Given the description of an element on the screen output the (x, y) to click on. 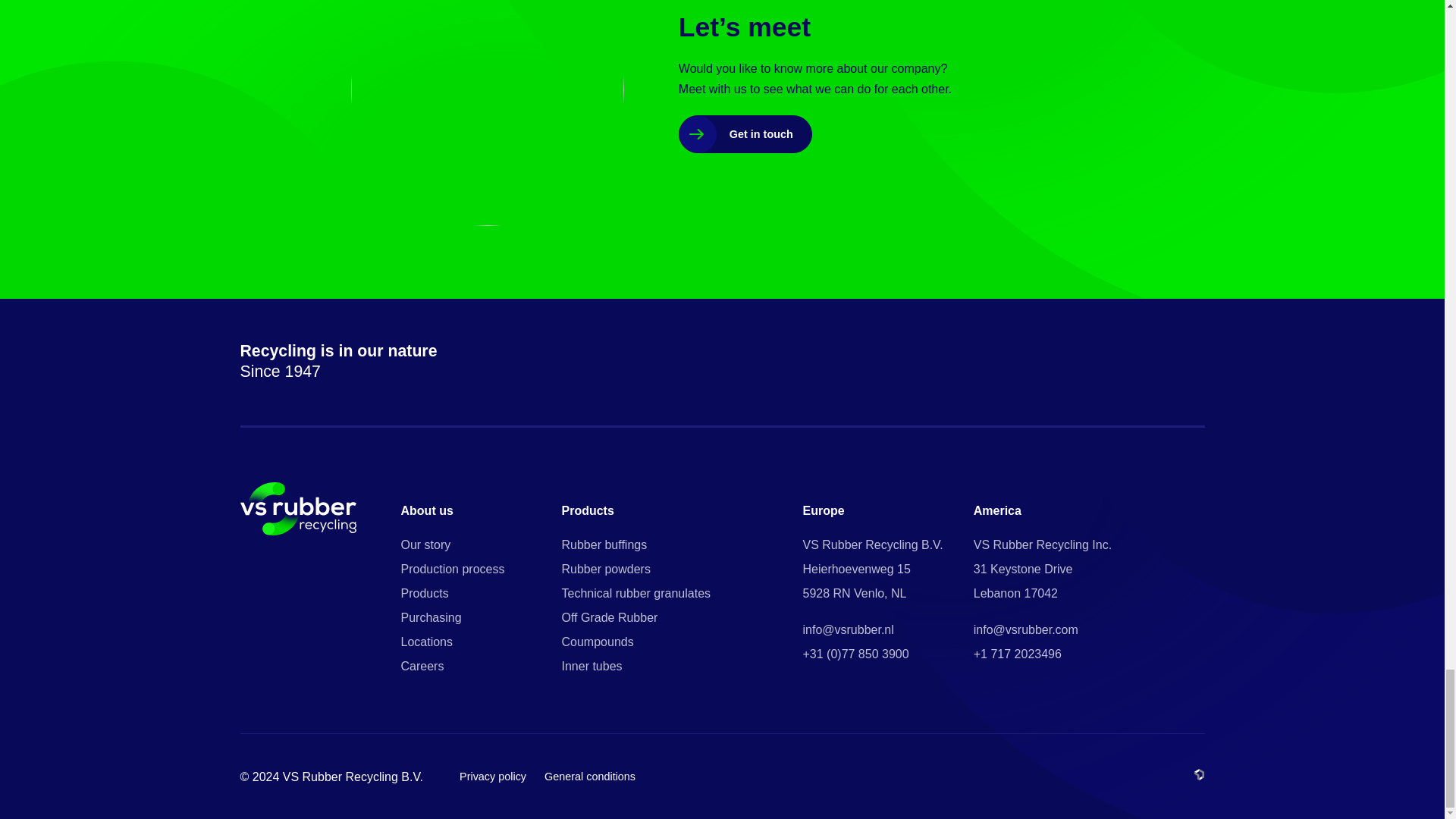
Our story (424, 544)
Products (424, 593)
Get in touch (745, 134)
Production process (451, 568)
